Given the description of an element on the screen output the (x, y) to click on. 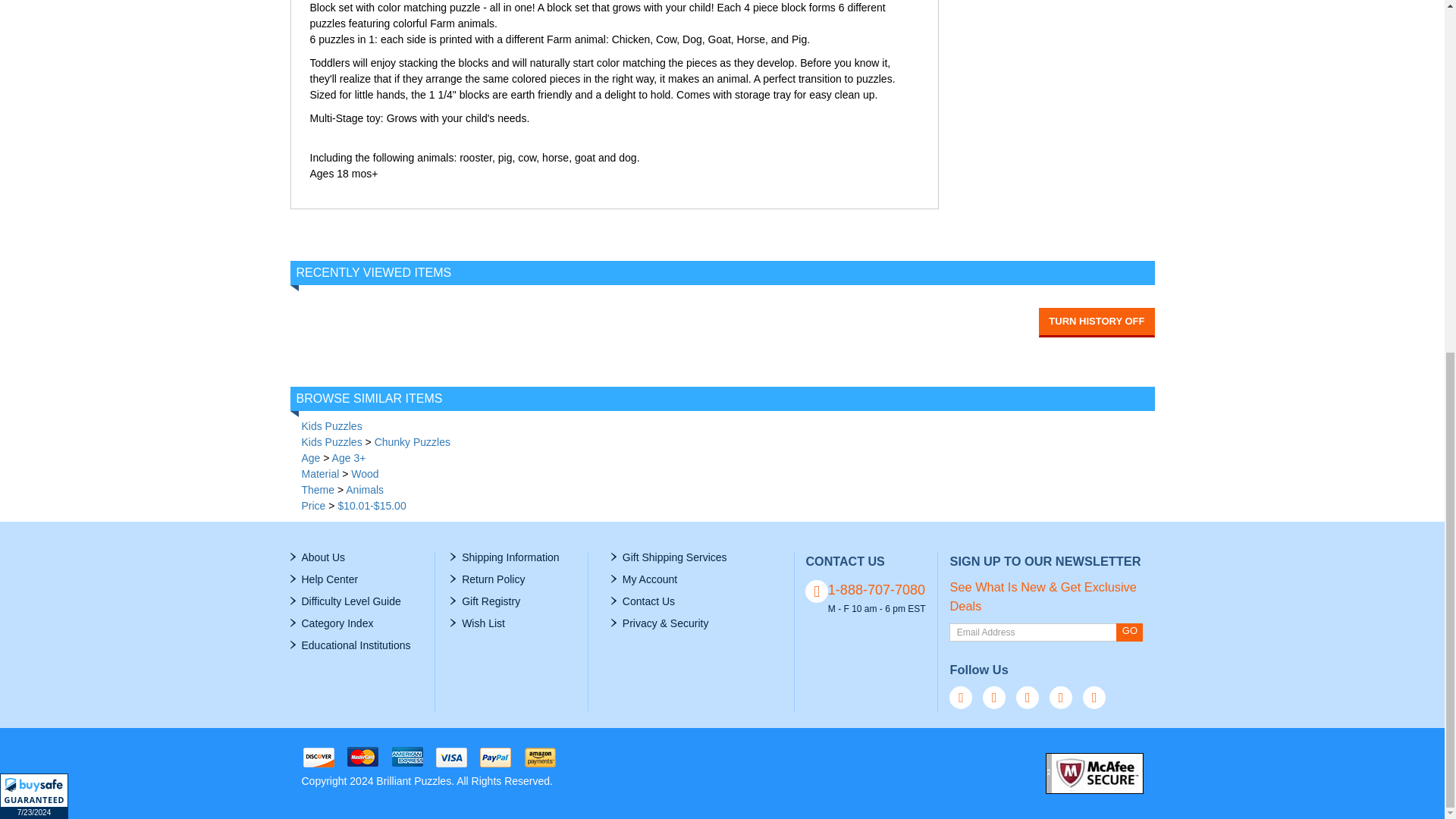
Unused iFrame 1 (34, 180)
